Given the description of an element on the screen output the (x, y) to click on. 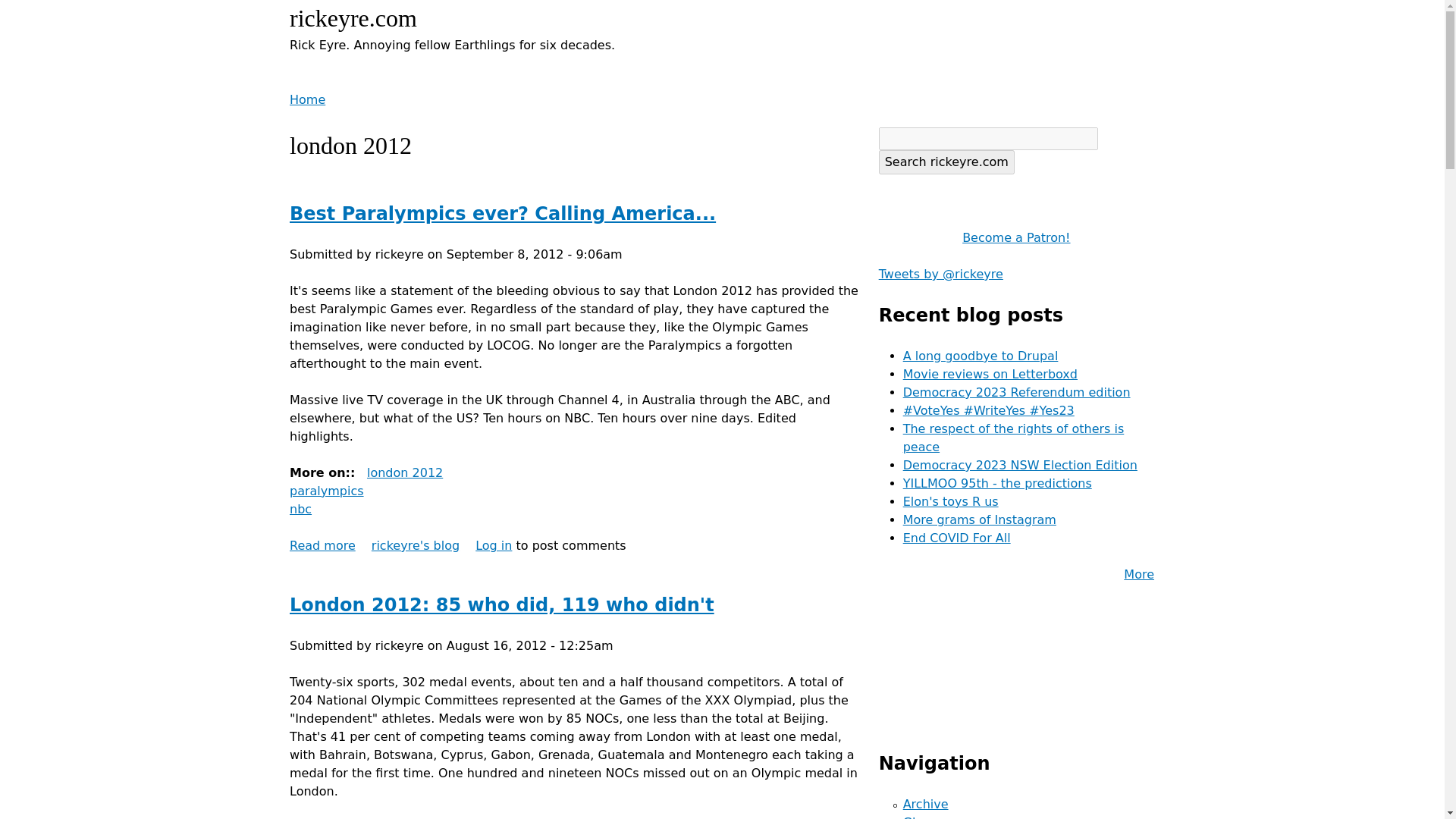
rickeyre.com (352, 17)
rickeyre's blog (415, 545)
paralympics (326, 490)
nbc (322, 545)
Read rickeyre's latest blog entries. (300, 509)
Best Paralympics ever? Calling America... (415, 545)
Home (502, 213)
Back to top (352, 17)
